Given the description of an element on the screen output the (x, y) to click on. 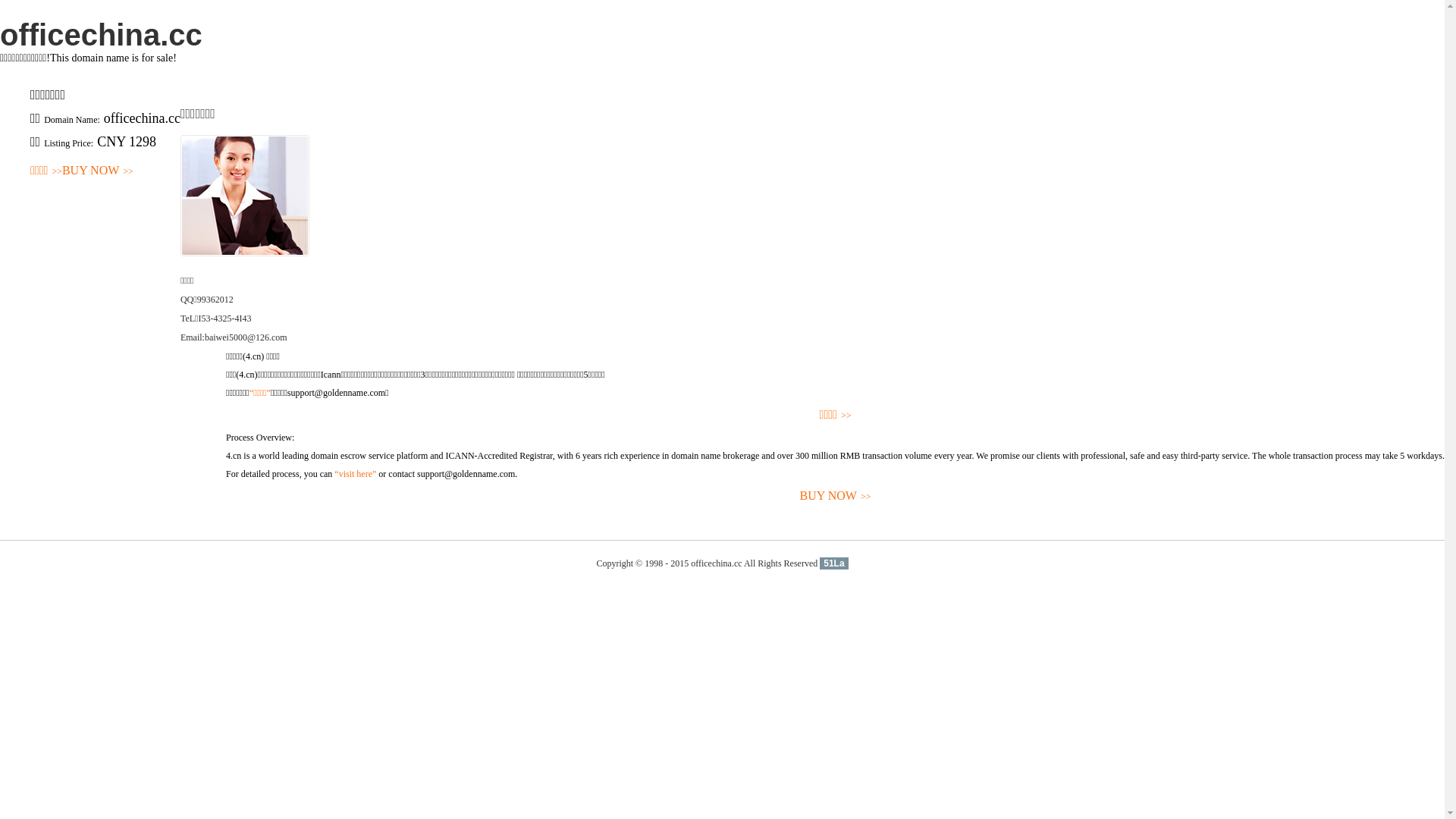
BUY NOW>> Element type: text (834, 496)
51La Element type: text (833, 563)
BUY NOW>> Element type: text (97, 170)
